Given the description of an element on the screen output the (x, y) to click on. 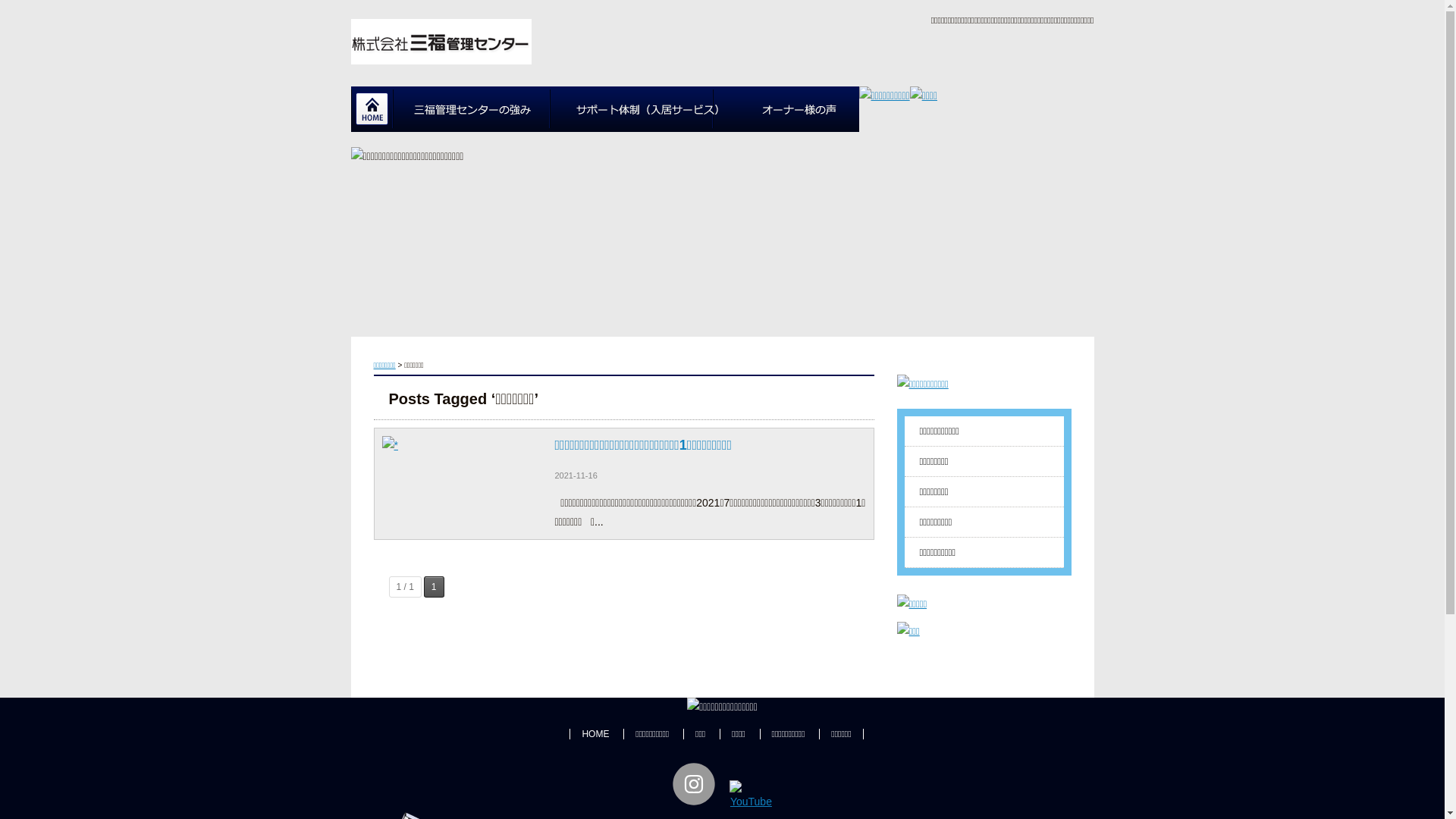
HOME Element type: text (588, 733)
